Given the description of an element on the screen output the (x, y) to click on. 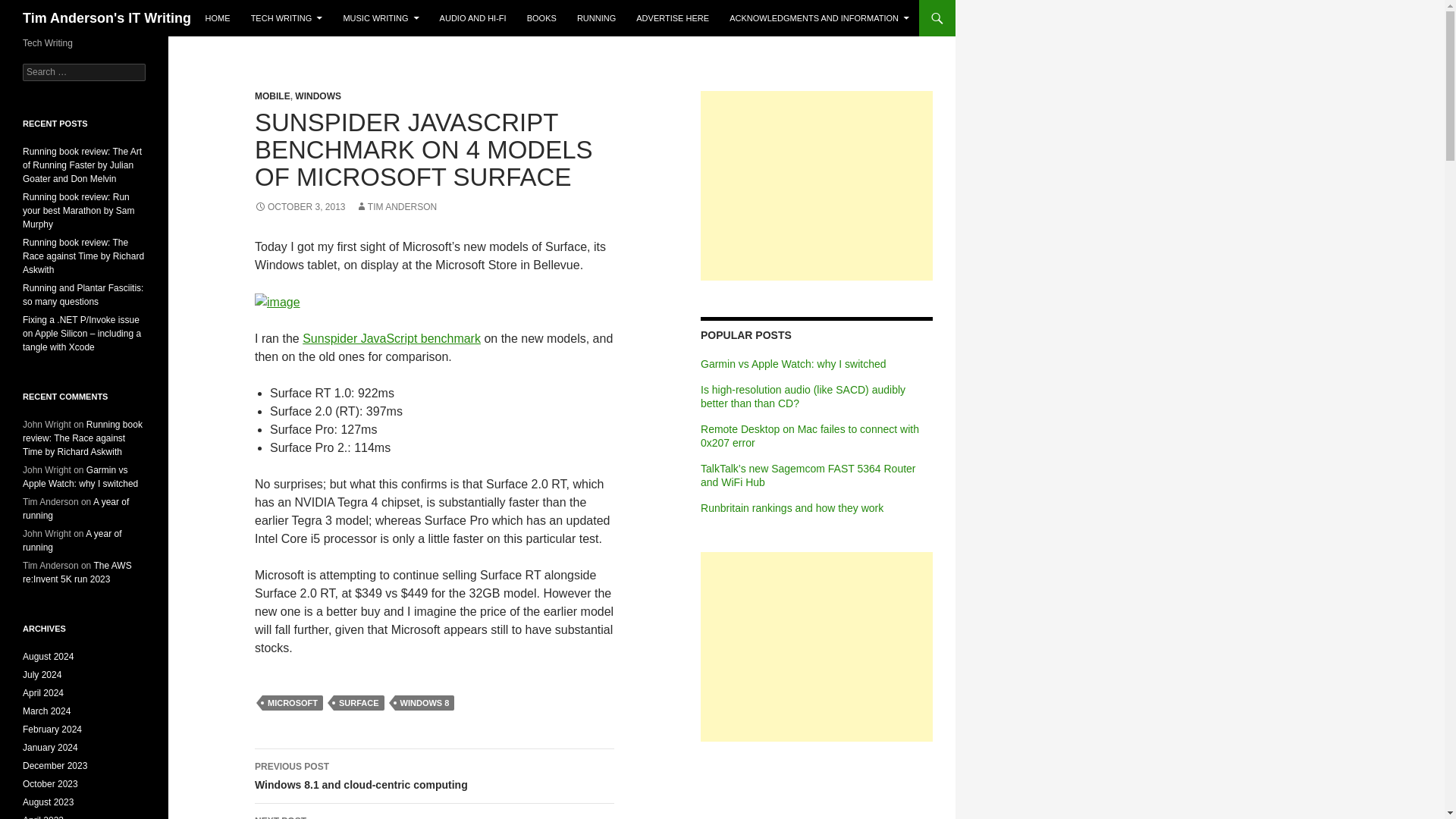
WINDOWS (317, 95)
Remote Desktop on Mac failes to connect with 0x207 error (809, 435)
image (434, 776)
TECH WRITING (276, 302)
Advertisement (286, 18)
MUSIC WRITING (816, 185)
Sunspider JavaScript benchmark (380, 18)
OCTOBER 3, 2013 (391, 338)
